Given the description of an element on the screen output the (x, y) to click on. 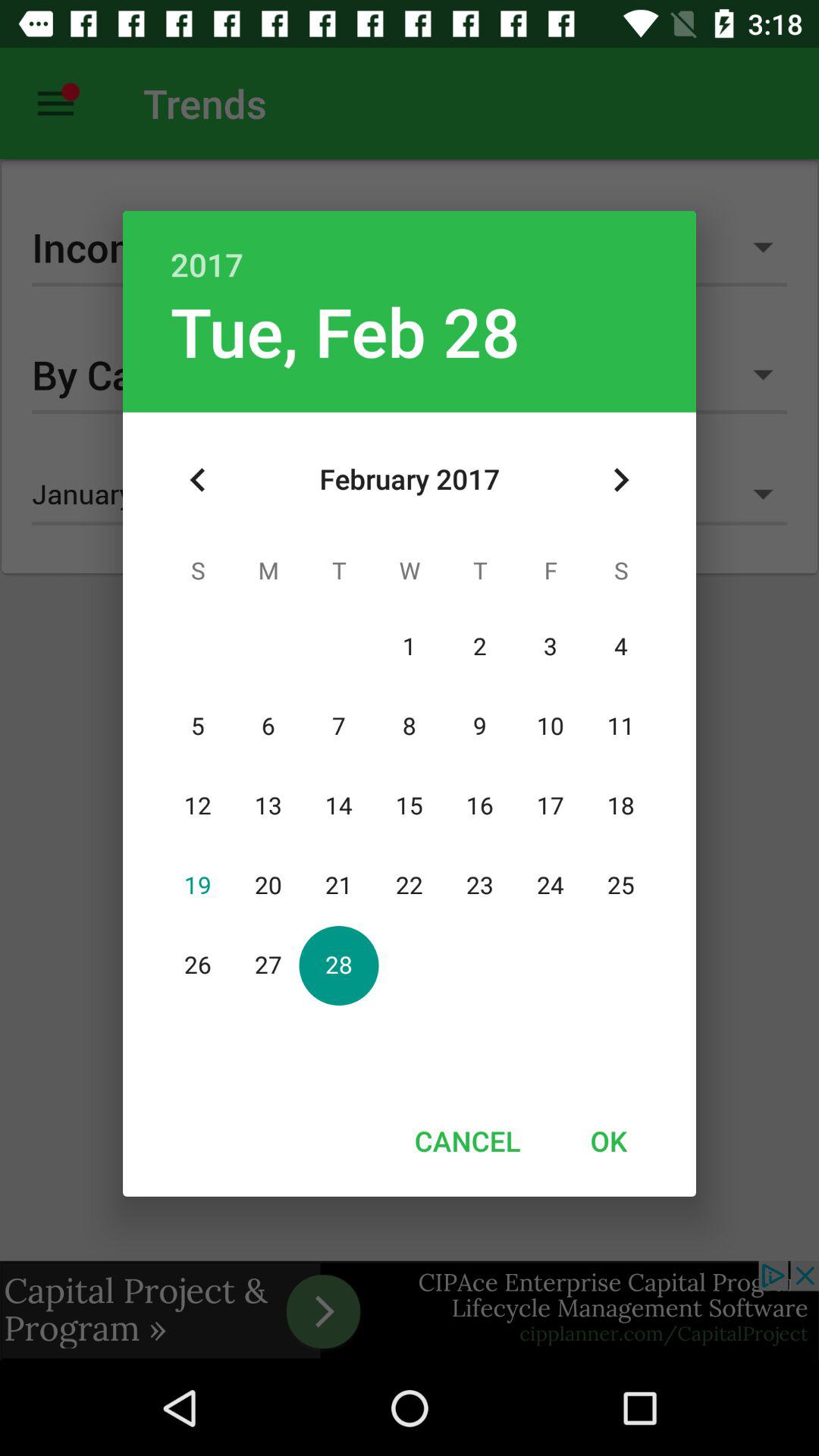
scroll to ok (608, 1140)
